Given the description of an element on the screen output the (x, y) to click on. 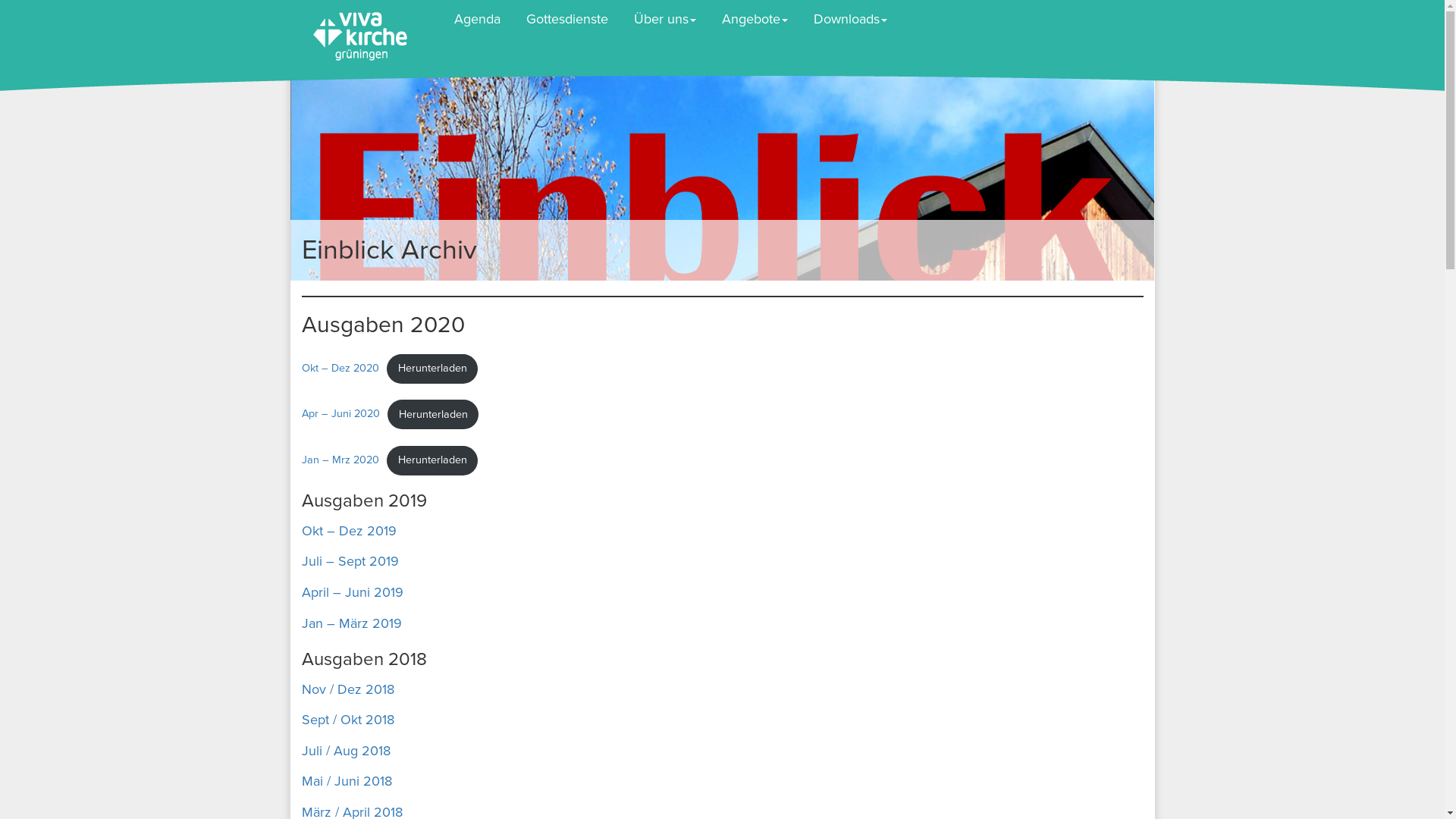
Gottesdienste Element type: text (566, 18)
Downloads Element type: text (850, 18)
Juli / Aug 2018 Element type: text (345, 750)
Herunterladen Element type: text (431, 368)
Sept / Okt 2018 Element type: text (347, 719)
Agenda Element type: text (476, 18)
Nov / Dez 2018 Element type: text (347, 688)
Mai / Juni 2018 Element type: text (346, 780)
Angebote Element type: text (753, 18)
Herunterladen Element type: text (432, 414)
Herunterladen Element type: text (431, 460)
